Given the description of an element on the screen output the (x, y) to click on. 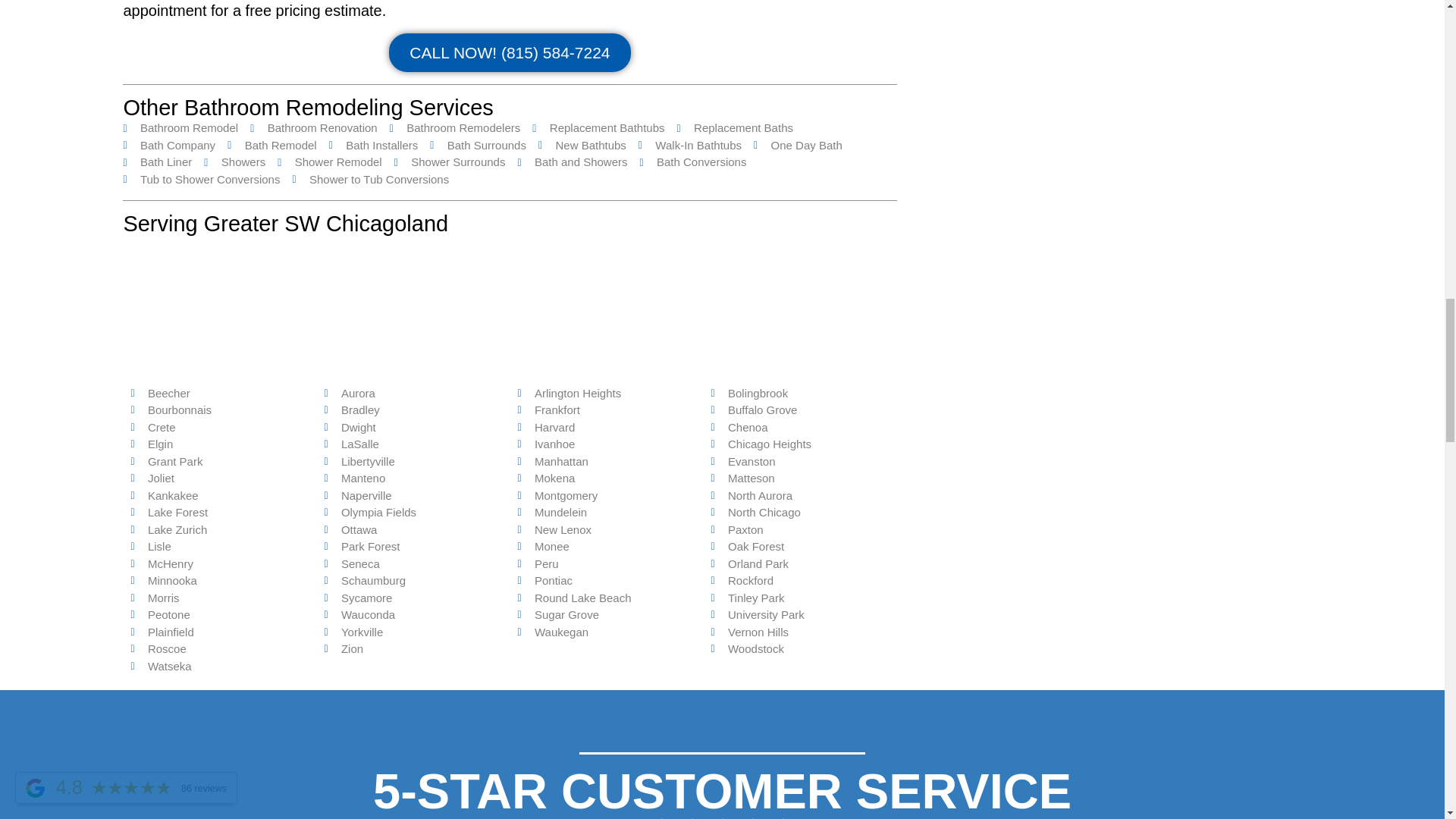
seneca, IL (509, 310)
